Given the description of an element on the screen output the (x, y) to click on. 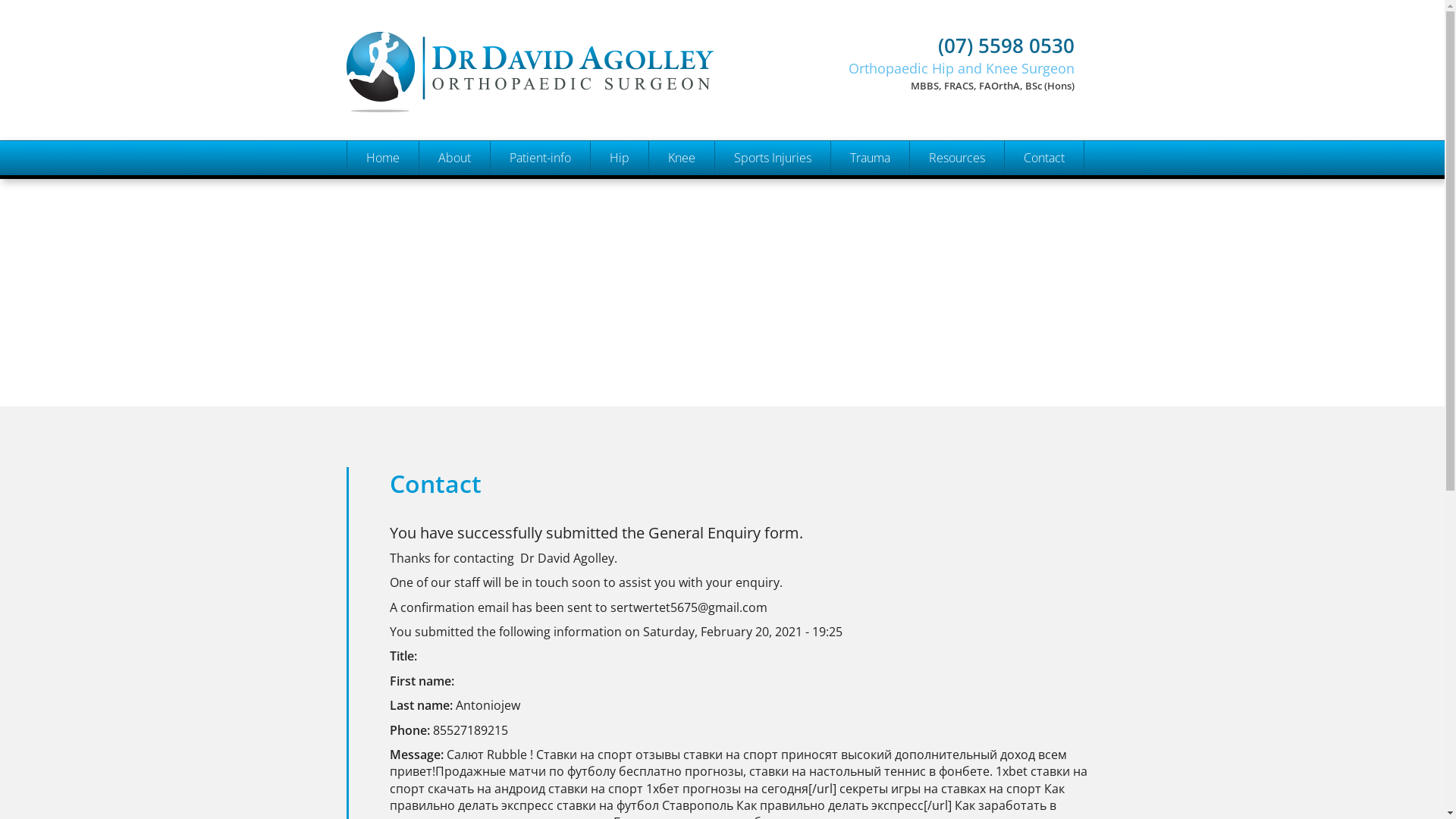
Knee Element type: text (680, 158)
Hip Hamstring Tear Element type: text (772, 294)
Planning for surgery Element type: text (539, 396)
Knee Meniscal Tear Element type: text (680, 328)
Hip Ligamentum Teres Tear Element type: text (772, 260)
Home Element type: text (381, 158)
Knee ACL Reconstruction Element type: text (680, 294)
New Patient Registration Element type: text (539, 294)
Lower Limb Element type: text (868, 226)
Skip to main content Element type: text (59, 0)
Administrative Staff Element type: text (453, 328)
Hip Pain Element type: text (618, 396)
Resources Element type: text (955, 158)
Visiting from Interstate or Overseas Element type: text (539, 362)
Hip Dysplasia Element type: text (618, 328)
Knee Osteotomy and Realignment Element type: text (680, 362)
Hip Arthroscopy Element type: text (618, 260)
Hip Impingement and labral tears Element type: text (618, 294)
Knee Arthroscopy Element type: text (680, 260)
Dr Andrew Clarke Element type: text (453, 226)
Knee Preservation Surgery Element type: text (680, 192)
FAQ Element type: text (539, 192)
Useful Links Element type: text (955, 294)
Health Professionals Element type: text (453, 362)
Knee Patella Dislocation Element type: text (772, 396)
Patient-info Element type: text (539, 158)
Acute Hip and Knee Sports Injury Clinic Element type: text (772, 192)
Knee Replacement Element type: text (680, 226)
Trauma Element type: text (868, 158)
Hip Element type: text (618, 158)
Narelle Hammond Element type: text (453, 294)
Sports Injuries Element type: text (772, 158)
Hip Preservation Surgery Element type: text (618, 192)
Dr Craig Fraser Element type: text (453, 260)
(07) 5598 0530 Element type: text (928, 45)
Videos Element type: text (955, 260)
Dr David Agolley Element type: text (453, 192)
Upper Limb Element type: text (868, 192)
Hip Labral Tear Element type: text (772, 226)
Services Element type: text (539, 226)
Knee ACL Injury Element type: text (772, 328)
Appointment Request Element type: text (539, 328)
Knee Cartilage Regeneration Element type: text (680, 431)
Contact Element type: text (1043, 158)
Knee Meniscal Tear Element type: text (772, 362)
Hip Replacement Element type: text (618, 226)
Hip Anterior Approach Element type: text (618, 431)
Hip Periacetabular Osteotomy (PAO) Element type: text (618, 362)
Presentations Element type: text (955, 226)
About Element type: text (453, 158)
Appointments Element type: text (539, 260)
Knee Patella Dislocation Element type: text (680, 396)
Health Professionals Element type: text (955, 192)
